Given the description of an element on the screen output the (x, y) to click on. 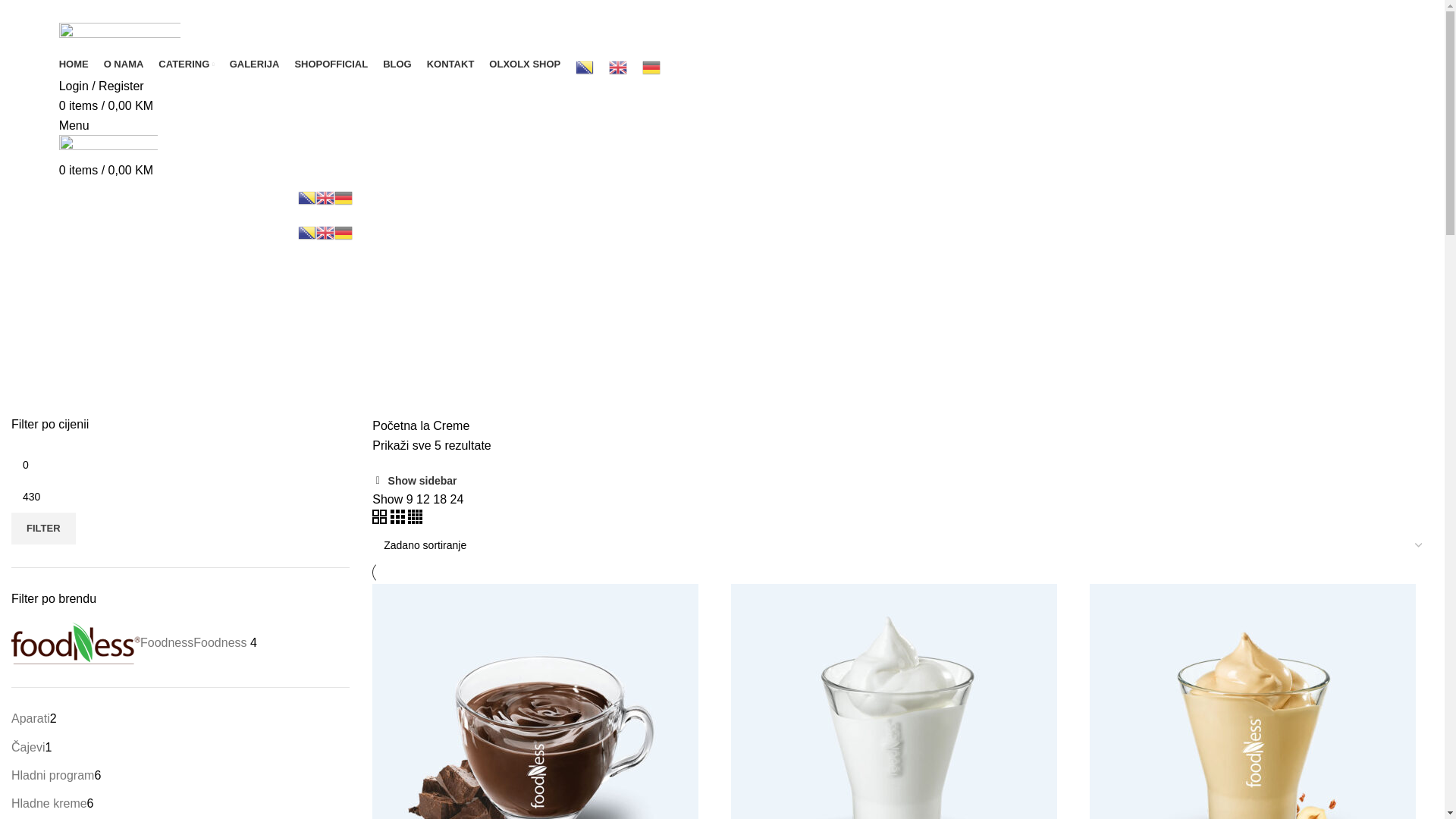
0 items / 0,00 KM Element type: text (106, 169)
German Element type: hover (651, 67)
Hladne kreme Element type: text (49, 803)
HLADNI PROGRAM6 PRODUCTS Element type: text (432, 396)
Categories Element type: text (46, 376)
24 Element type: text (457, 498)
GALERIJA Element type: text (254, 64)
Login / Register Element type: text (101, 85)
German Element type: hover (342, 196)
FILTER Element type: text (43, 528)
English Element type: hover (617, 67)
Aparati Element type: text (30, 718)
ALL PRODUCTS Element type: text (50, 396)
KONTAKT Element type: text (450, 64)
Bosnian Element type: hover (306, 196)
INVENTAR0 PRODUCTS Element type: text (711, 396)
PIREI I SIRUPI7 PRODUCTS Element type: text (1366, 396)
Bosnian Element type: hover (584, 67)
KAFE APARATI1 PRODUCT Element type: text (973, 396)
Hladni program Element type: text (52, 774)
Menu Element type: text (74, 125)
CATERING Element type: text (185, 64)
HOME Element type: text (73, 64)
0 items / 0,00 KM Element type: text (106, 105)
18 Element type: text (441, 498)
KAFA35 PRODUCTS Element type: text (838, 396)
9 Element type: text (411, 498)
APARATI2 PRODUCTS Element type: text (164, 396)
HRANA2 PRODUCTS Element type: text (582, 396)
O NAMA Element type: text (123, 64)
English Element type: hover (324, 231)
12 Element type: text (424, 498)
OLX
OLX SHOP Element type: text (524, 64)
SHOP
OFFICIAL Element type: text (330, 64)
Bosnian Element type: hover (306, 231)
English Element type: hover (324, 196)
German Element type: hover (342, 231)
Show sidebar Element type: text (414, 480)
LA CREME5 PRODUCTS Element type: text (1117, 396)
BLOG Element type: text (397, 64)
FoodnessFoodness Element type: text (129, 642)
